Given the description of an element on the screen output the (x, y) to click on. 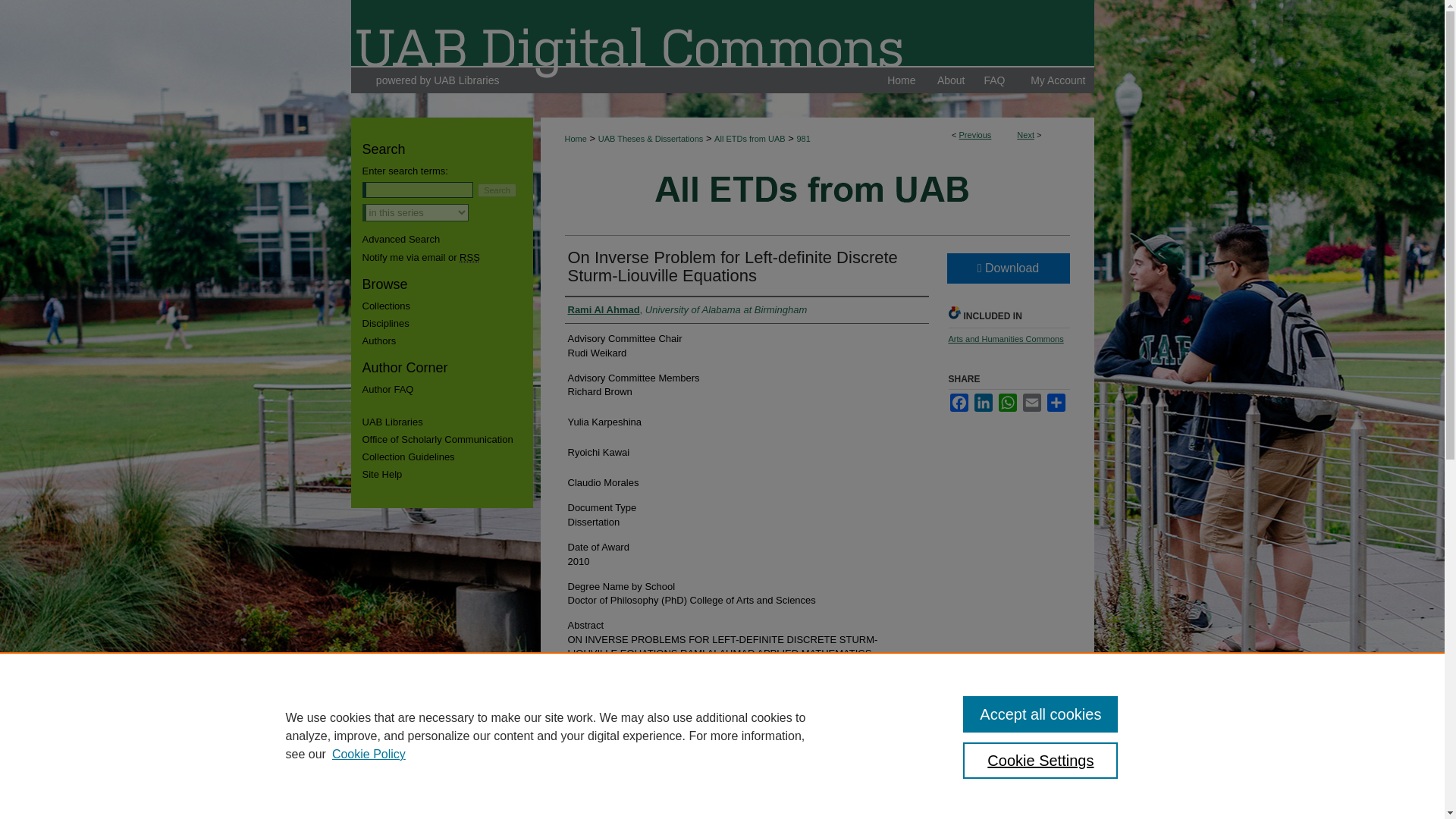
Download (1007, 268)
Search (496, 190)
Share (1055, 402)
About (951, 80)
My Account (1057, 80)
My Account (1057, 80)
Home (901, 80)
981 (802, 138)
UAB Libraries (436, 80)
powered by UAB Libraries (436, 80)
FAQ (994, 80)
All ETDs from UAB (750, 138)
Next (1024, 134)
Rami Al Ahmad, University of Alabama at Birmingham (686, 309)
Email (1031, 402)
